Given the description of an element on the screen output the (x, y) to click on. 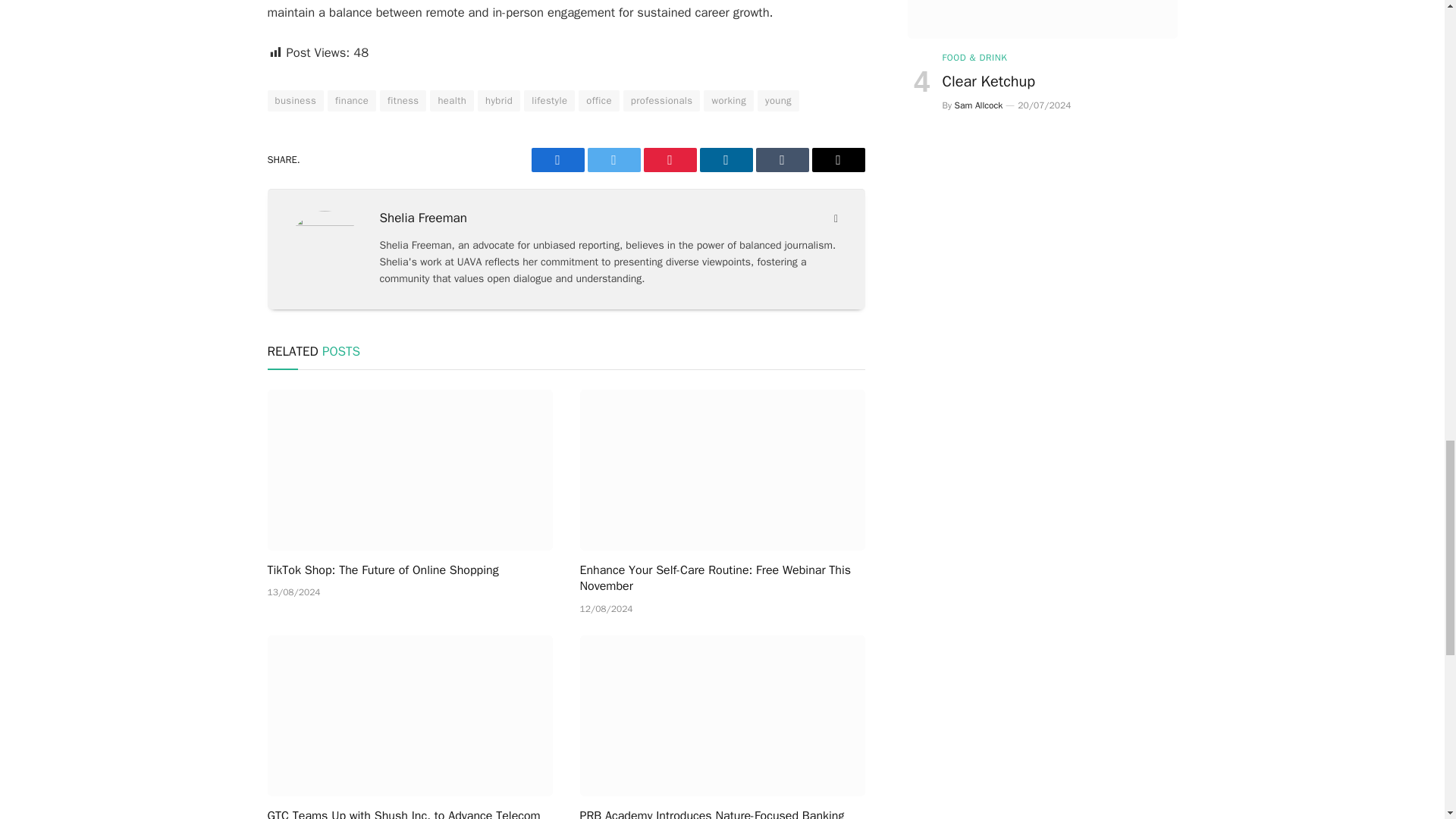
business (294, 100)
Share on LinkedIn (725, 159)
Share on Pinterest (669, 159)
health (451, 100)
Share on Facebook (557, 159)
lifestyle (549, 100)
hybrid (498, 100)
finance (351, 100)
fitness (403, 100)
